Given the description of an element on the screen output the (x, y) to click on. 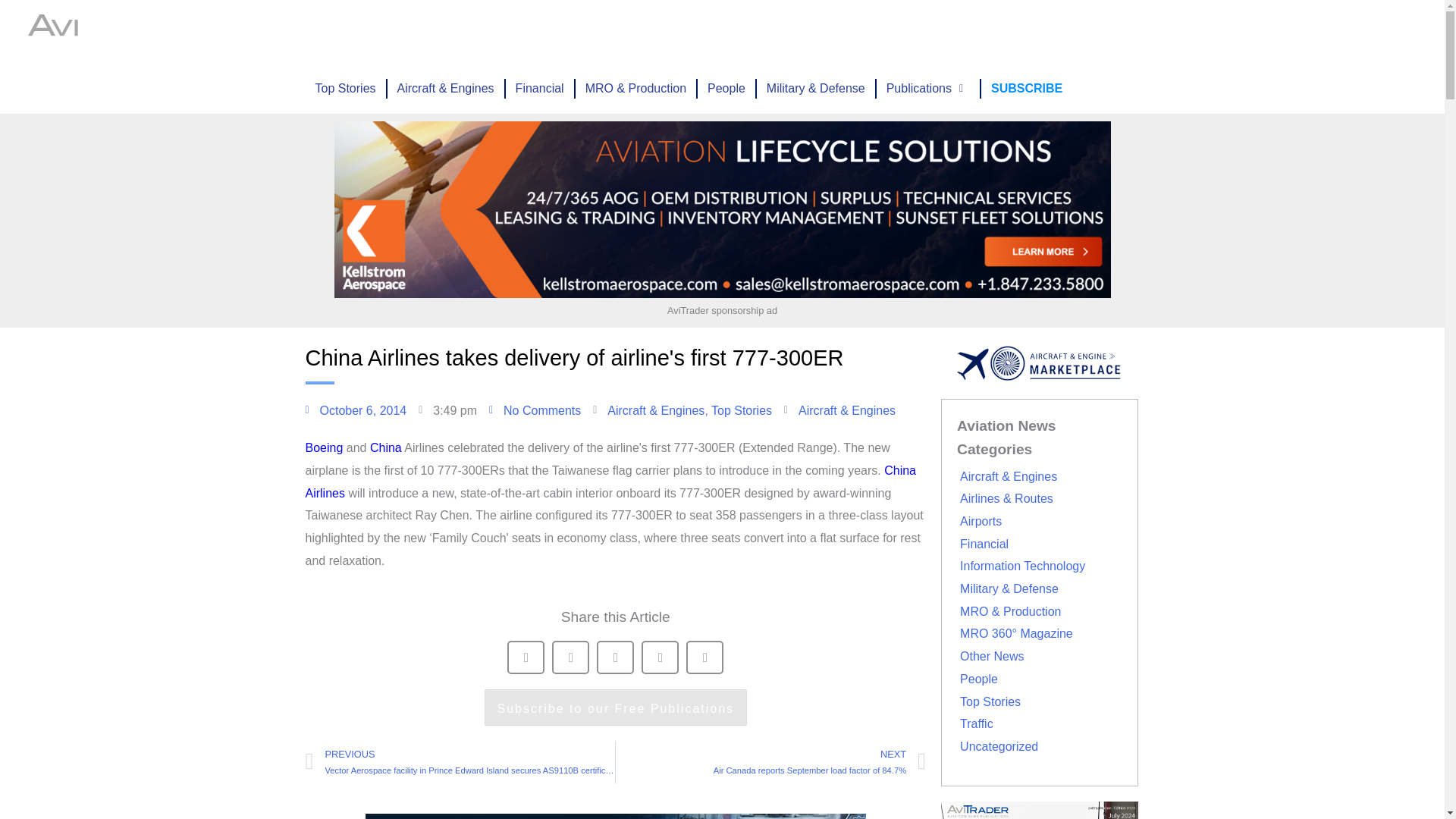
Posts tagged with Boeing (323, 447)
Our Team (949, 31)
About AviTrader (863, 31)
Posts tagged with China (385, 447)
Contact Us (1021, 31)
Posts tagged with China Airlines (609, 481)
Advertising (681, 31)
Upcoming Events (583, 31)
